Given the description of an element on the screen output the (x, y) to click on. 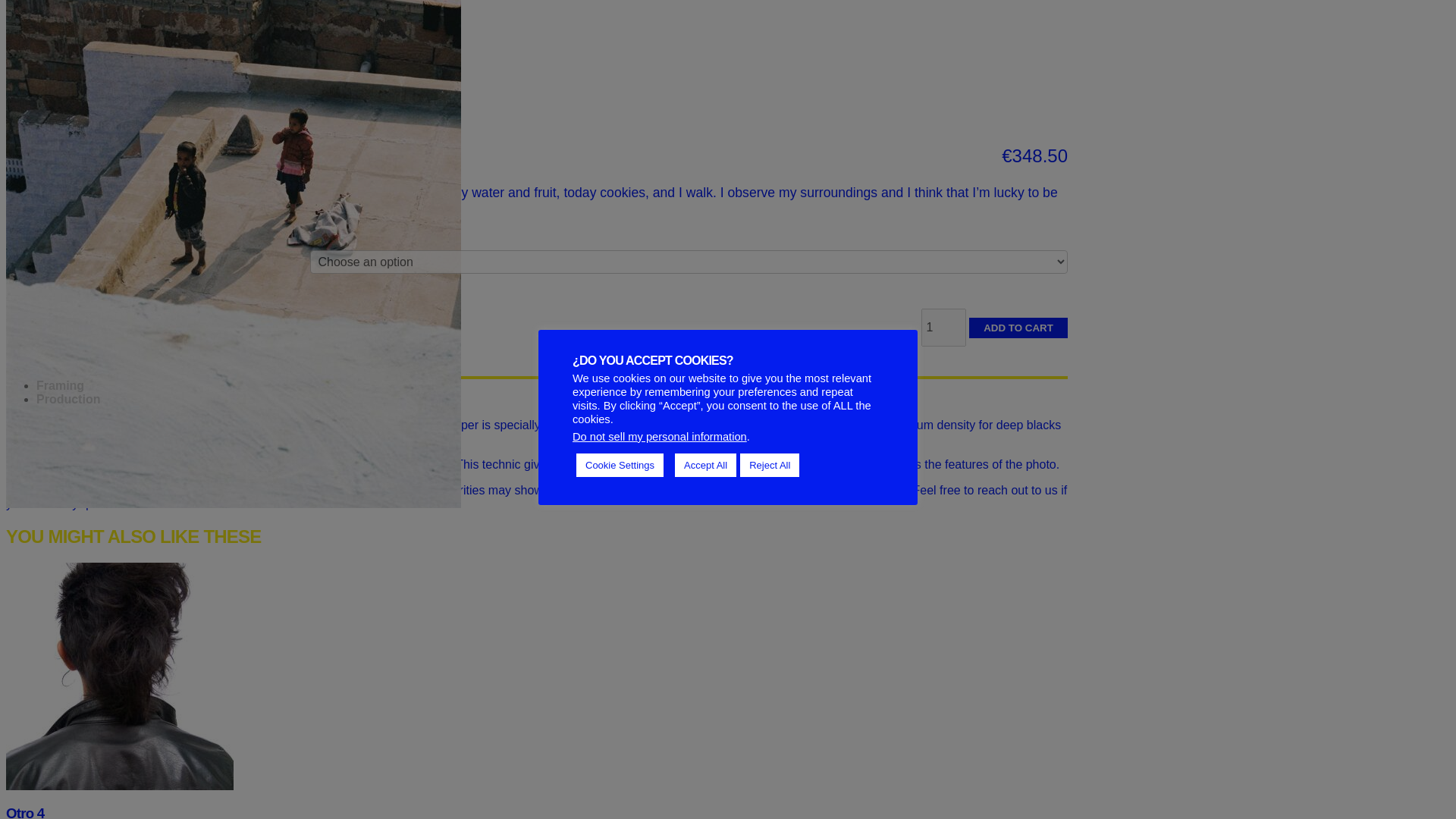
09.10.Playing in the rooftop - PRODUCTO (233, 18)
